Given the description of an element on the screen output the (x, y) to click on. 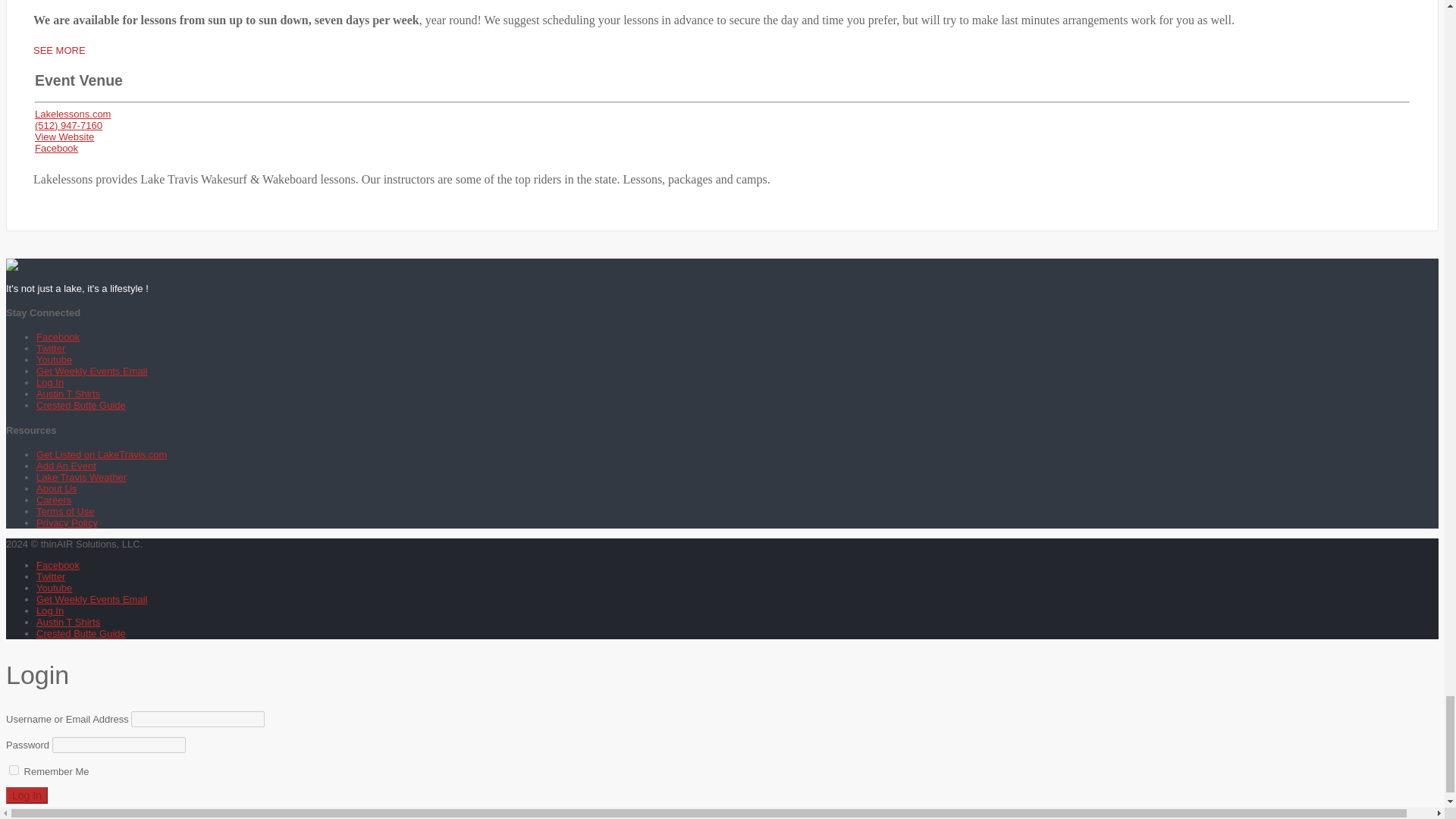
Log In (26, 795)
forever (13, 769)
